Given the description of an element on the screen output the (x, y) to click on. 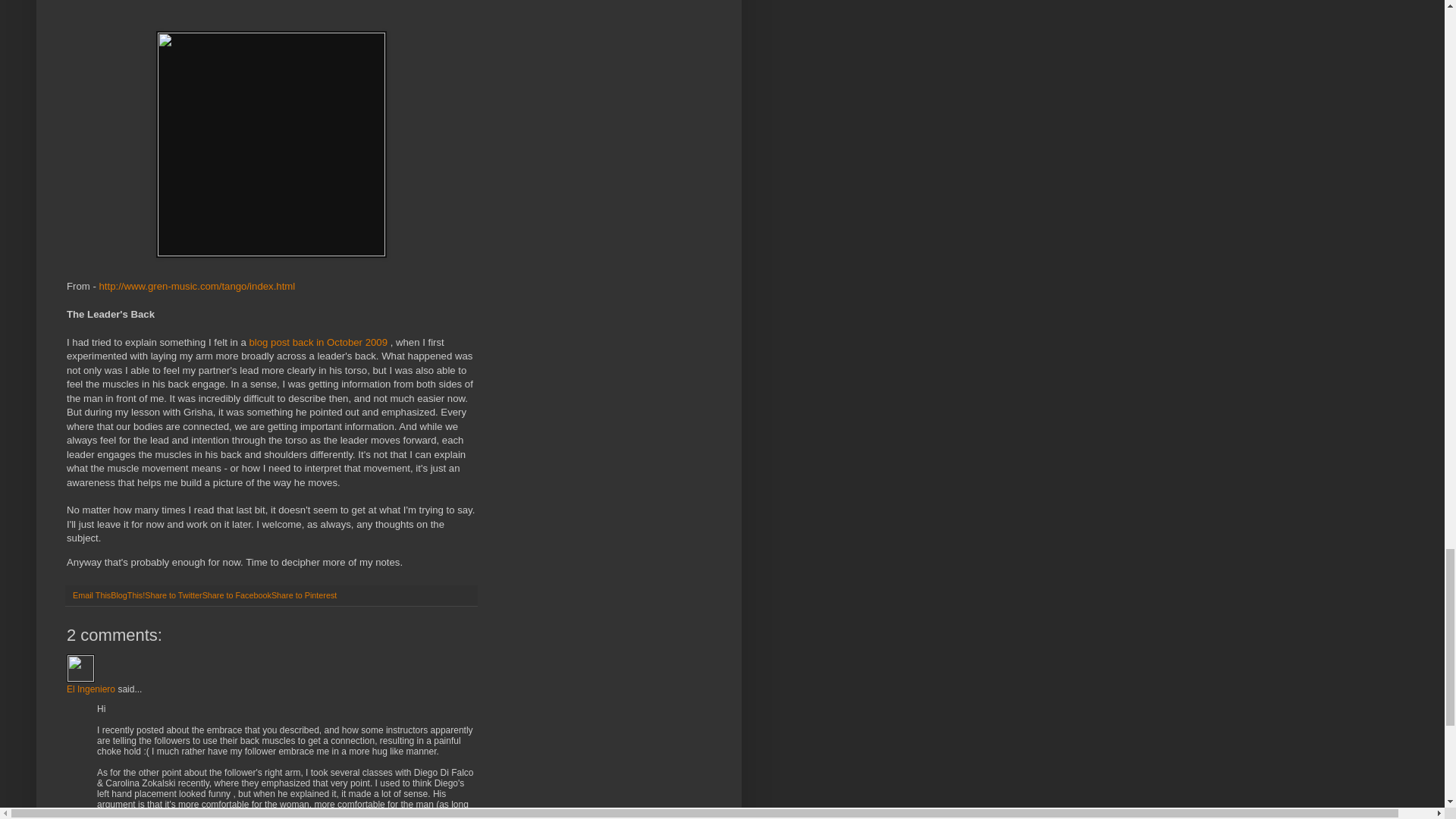
El Ingeniero (90, 688)
blog post back in October 2009 (319, 342)
Share to Twitter (173, 594)
Share to Pinterest (303, 594)
Share to Facebook (236, 594)
BlogThis! (127, 594)
Share to Facebook (236, 594)
Share to Pinterest (303, 594)
El Ingeniero (80, 668)
Share to Twitter (173, 594)
Email This (91, 594)
BlogThis! (127, 594)
Email This (91, 594)
